Given the description of an element on the screen output the (x, y) to click on. 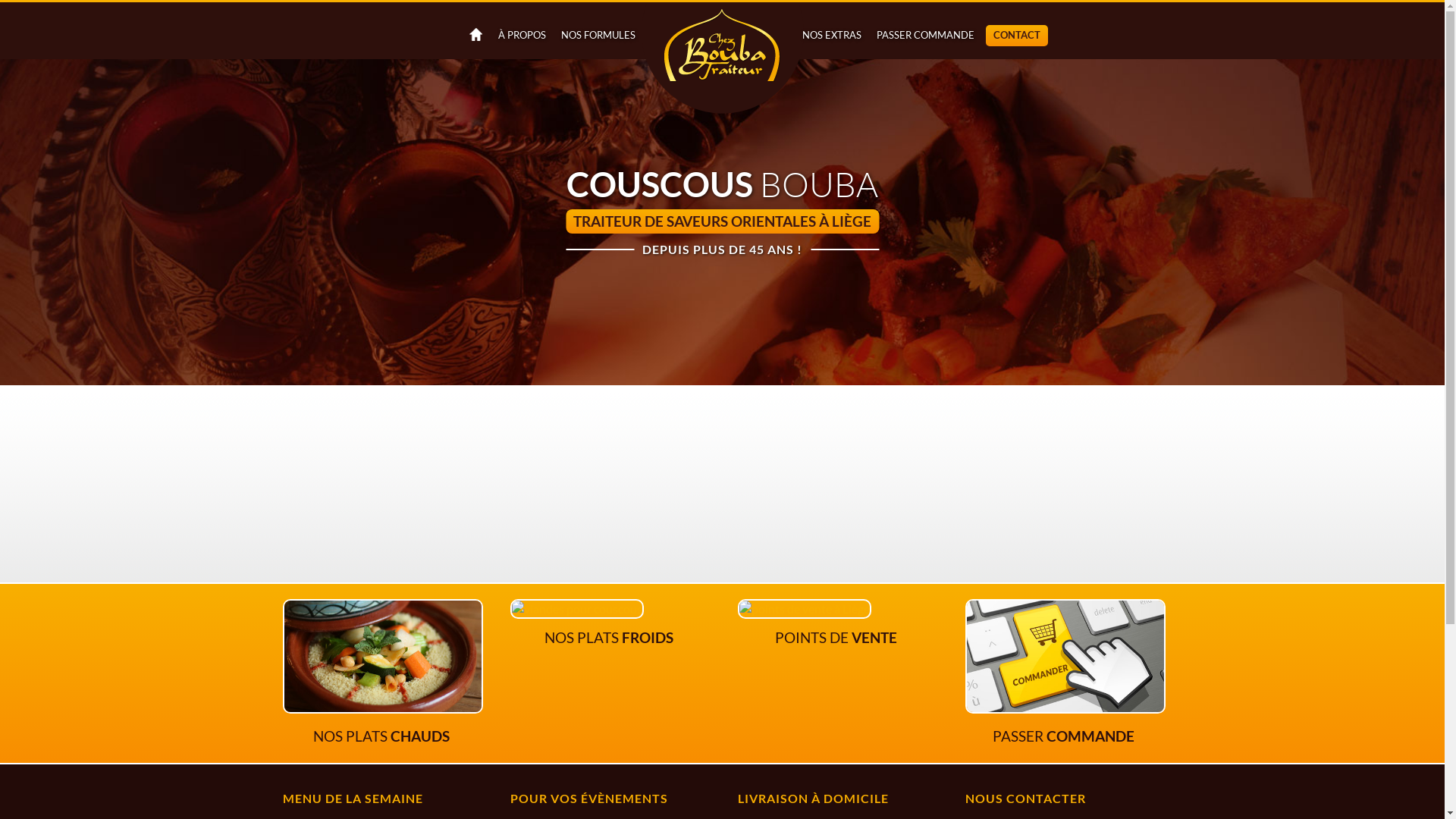
Chez Bouba Traiteur Element type: hover (721, 59)
Commander en ligne Element type: hover (1064, 708)
ACCUEIL Element type: text (473, 35)
NOS FORMULES Element type: text (598, 35)
CONTACT Element type: text (1016, 35)
Nos viandes Element type: hover (576, 608)
PASSER COMMANDE Element type: text (925, 35)
